Given the description of an element on the screen output the (x, y) to click on. 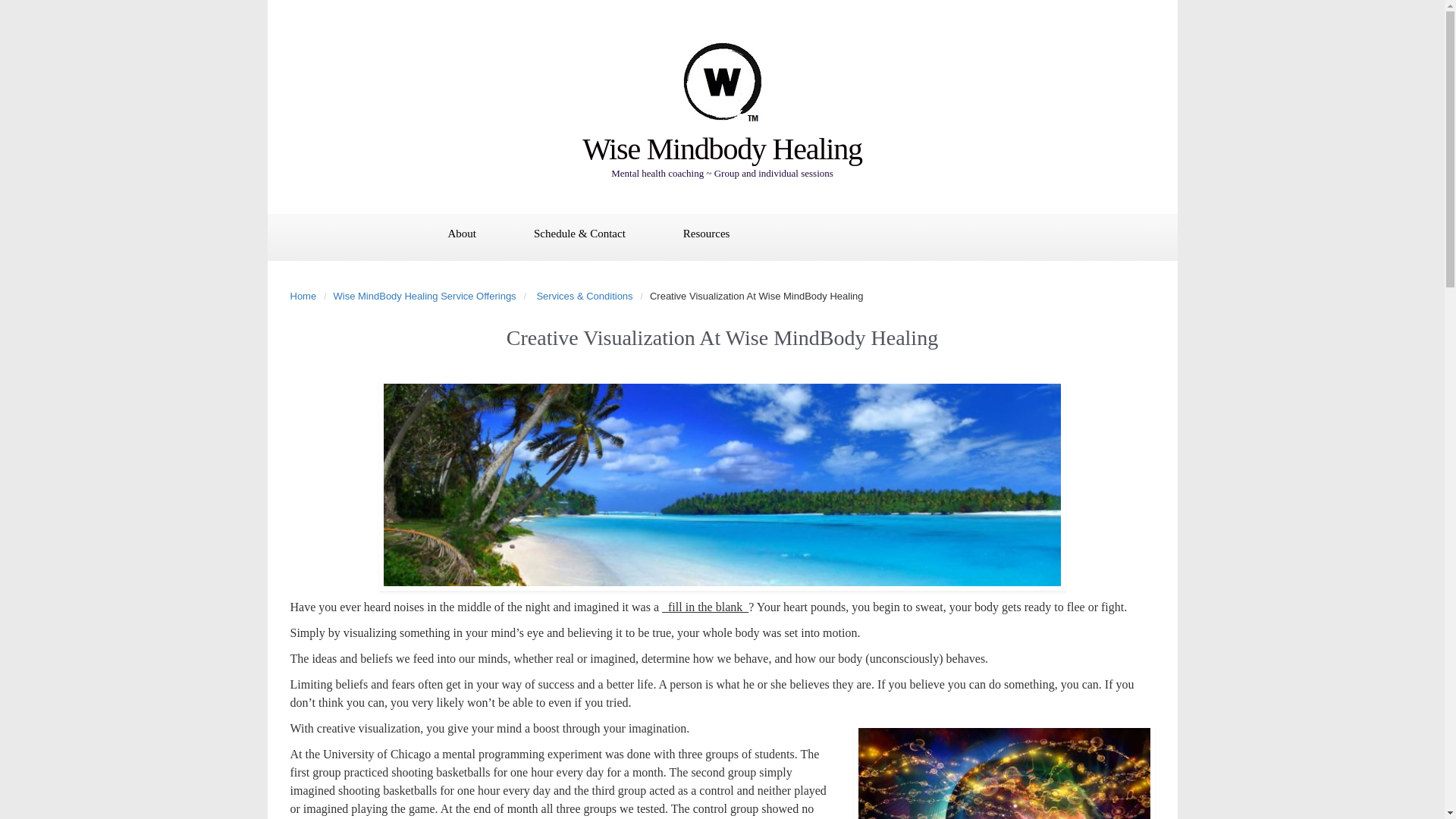
Resources (706, 235)
Home (306, 296)
Wise MindBody Healing Service Offerings (428, 296)
Wise Mindbody Healing (721, 148)
About (461, 235)
Wise MindBody Healing Service Offerings (428, 296)
